Given the description of an element on the screen output the (x, y) to click on. 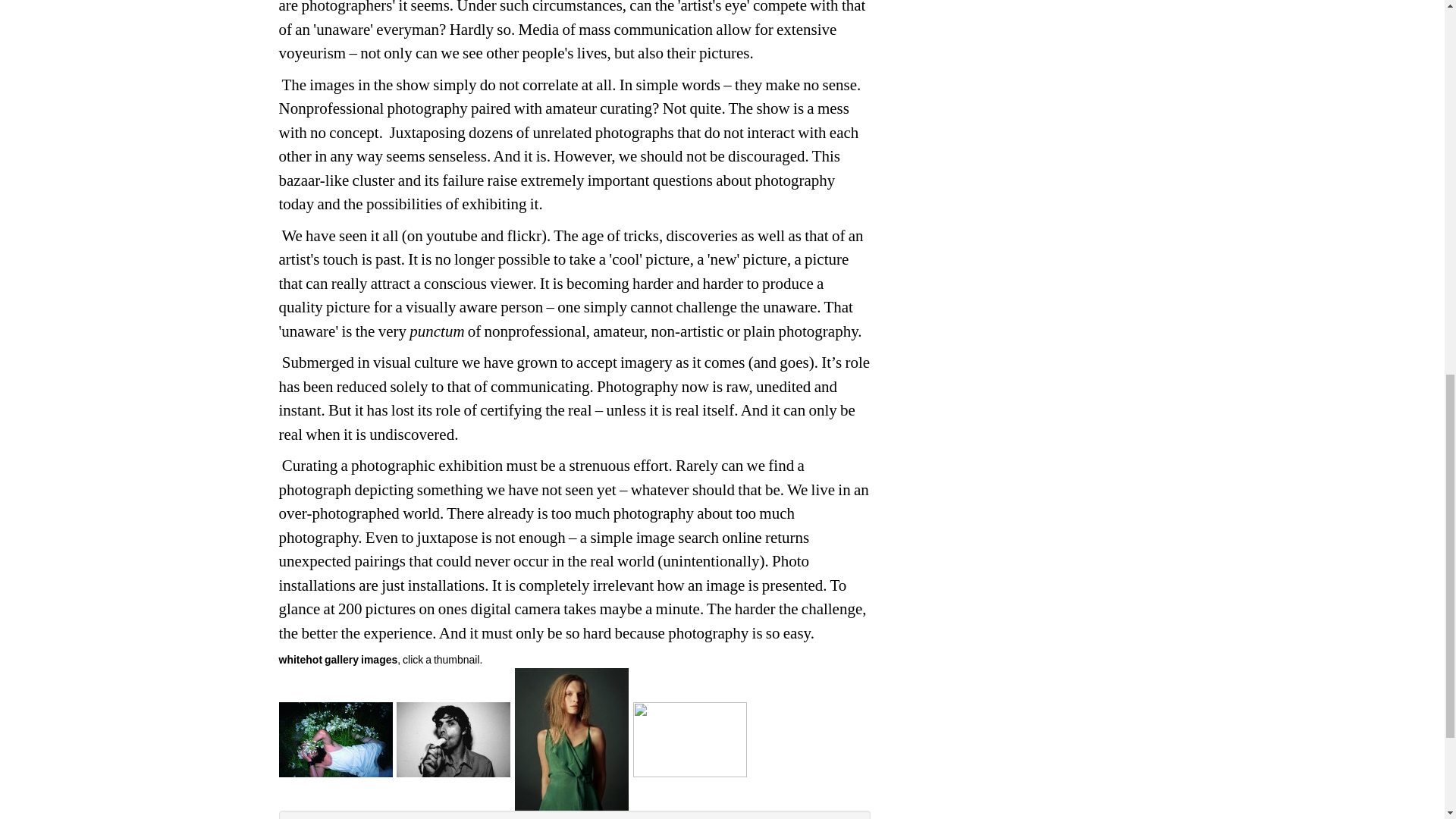
Red Eye Effect at Warsaw's CCA (336, 738)
Red Eye Effect at Warsaw's CCA (571, 738)
Red Eye Effect at Warsaw's CCA (453, 738)
Red Eye Effect at Warsaw's CCA (689, 738)
